Given the description of an element on the screen output the (x, y) to click on. 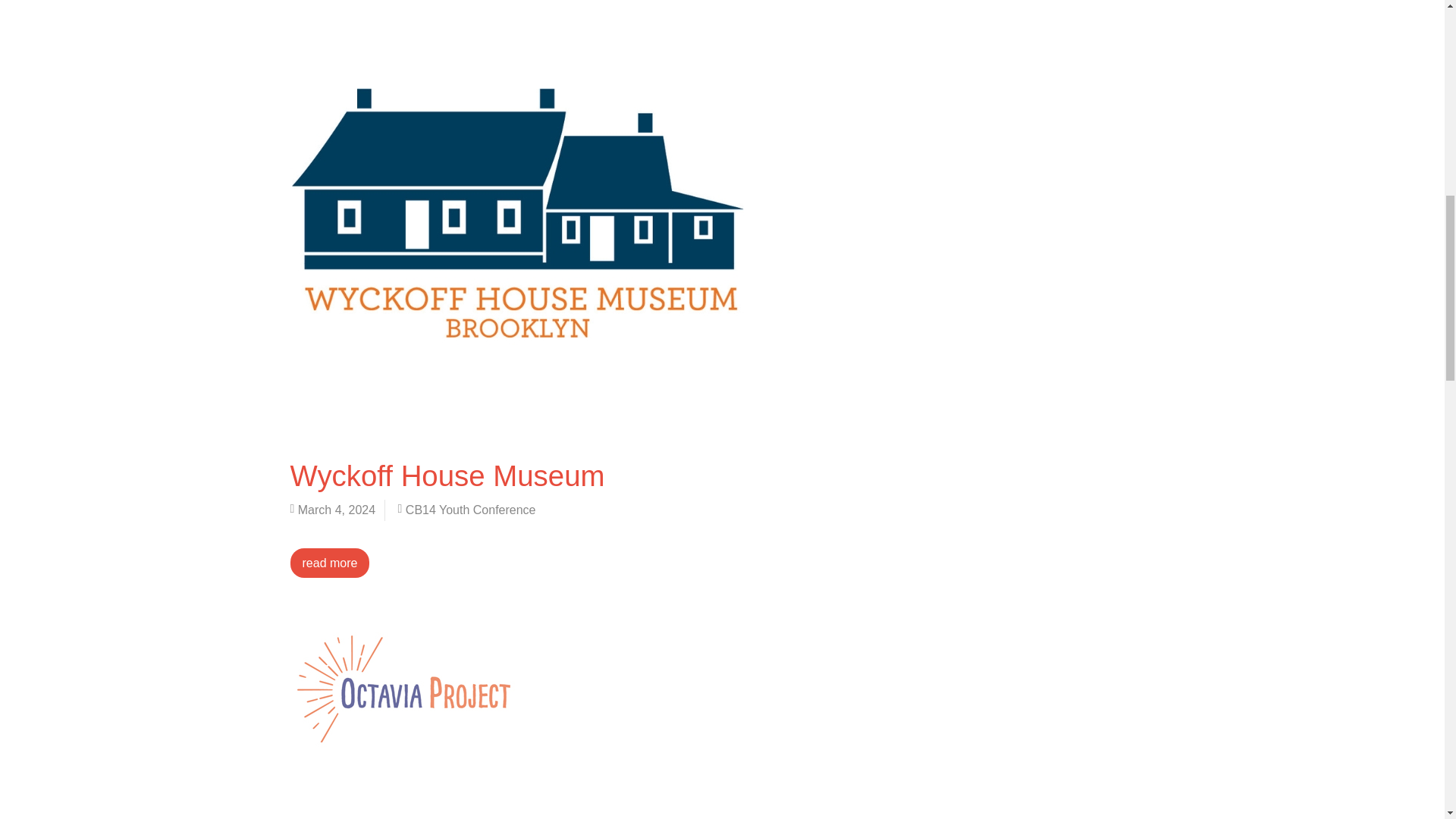
read more (329, 562)
Wyckoff House Museum (446, 475)
Permalink to Wyckoff House Museum (446, 475)
CB14 Youth Conference (470, 509)
